Given the description of an element on the screen output the (x, y) to click on. 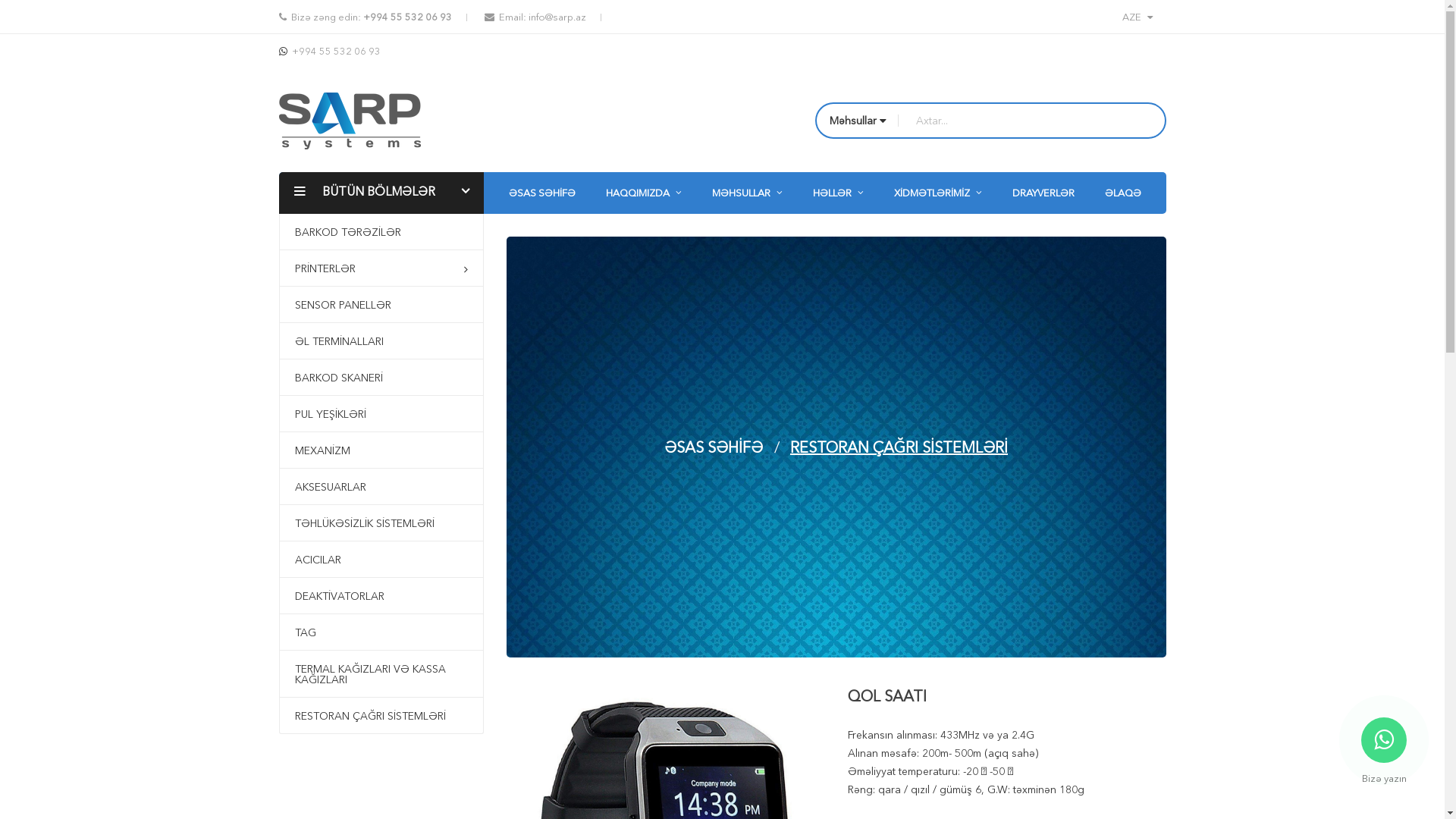
SARP OTEL Element type: text (317, 219)
AKSESUARLAR Element type: text (325, 219)
SARP FAST FOOD Element type: text (332, 219)
SARP APTEK Element type: text (319, 219)
SARP MARKET Element type: text (324, 219)
ACICILAR Element type: text (313, 219)
SARP RESTORAN Element type: text (331, 219)
HAQQIMIZDA Element type: text (642, 192)
ACICILAR Element type: text (380, 559)
info@sarp.az Element type: text (556, 16)
PARTNYORLAR Element type: text (325, 219)
TAG Element type: text (380, 632)
+994 55 532 06 93 Element type: text (335, 50)
TAG Element type: text (300, 219)
+994 55 532 06 93 Element type: text (406, 16)
AKSESUARLAR Element type: text (380, 486)
